Given the description of an element on the screen output the (x, y) to click on. 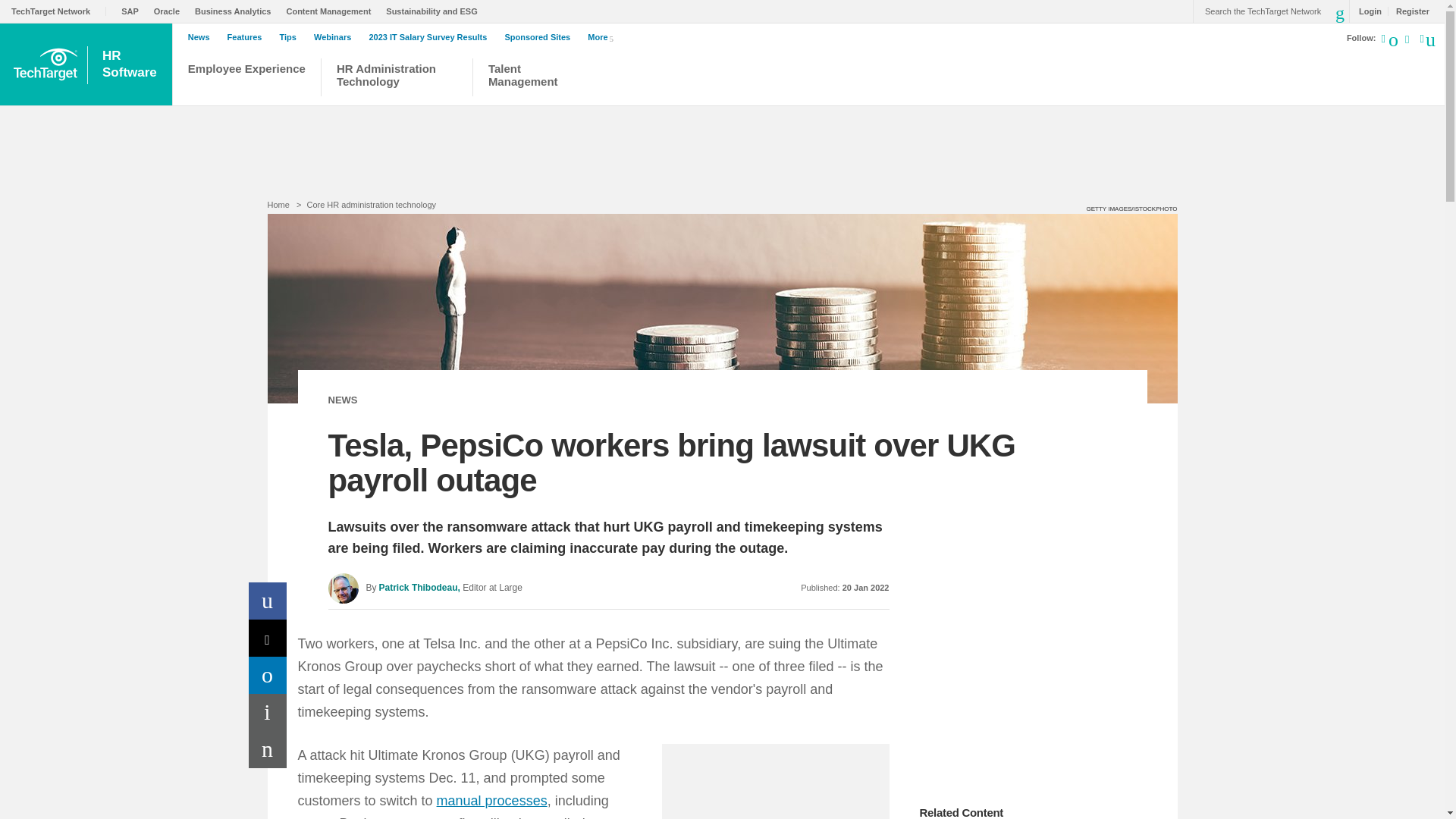
Register (1408, 10)
Content Management (130, 64)
TechTarget Network (331, 10)
Share on X (58, 10)
Talent Management (267, 637)
Business Analytics (528, 79)
HR Administration Technology (236, 10)
Share on LinkedIn (396, 79)
Oracle (267, 674)
